Given the description of an element on the screen output the (x, y) to click on. 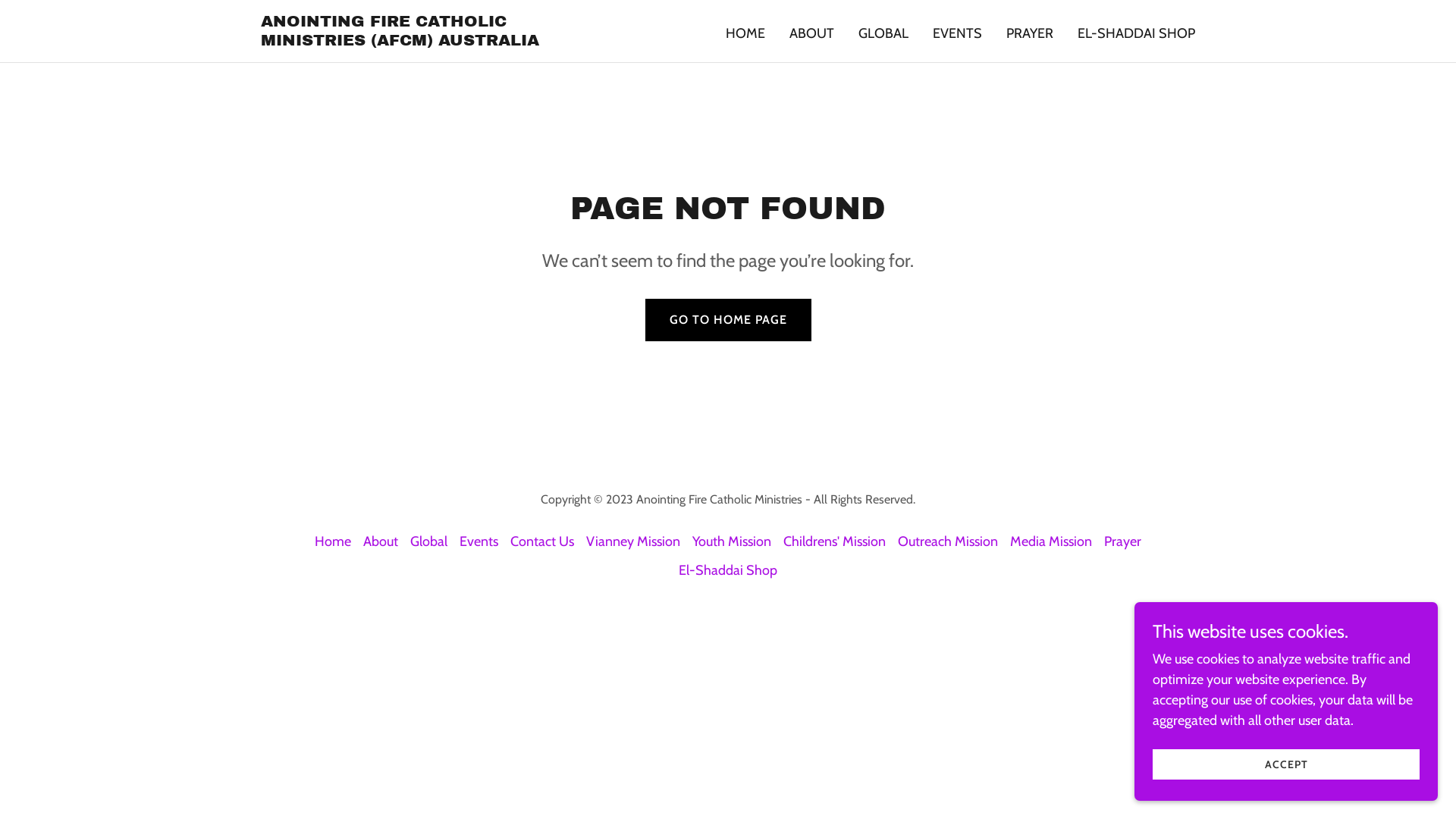
HOME Element type: text (745, 33)
PRAYER Element type: text (1029, 33)
Home Element type: text (332, 541)
Outreach Mission Element type: text (947, 541)
El-Shaddai Shop Element type: text (727, 569)
GO TO HOME PAGE Element type: text (727, 319)
Global Element type: text (428, 541)
Events Element type: text (478, 541)
Prayer Element type: text (1122, 541)
ANOINTING FIRE CATHOLIC MINISTRIES (AFCM) AUSTRALIA Element type: text (423, 40)
About Element type: text (380, 541)
GLOBAL Element type: text (883, 33)
Vianney Mission Element type: text (633, 541)
Youth Mission Element type: text (731, 541)
Contact Us Element type: text (542, 541)
ACCEPT Element type: text (1285, 764)
ABOUT Element type: text (811, 33)
Childrens' Mission Element type: text (834, 541)
Media Mission Element type: text (1051, 541)
EVENTS Element type: text (957, 33)
EL-SHADDAI SHOP Element type: text (1136, 33)
